Given the description of an element on the screen output the (x, y) to click on. 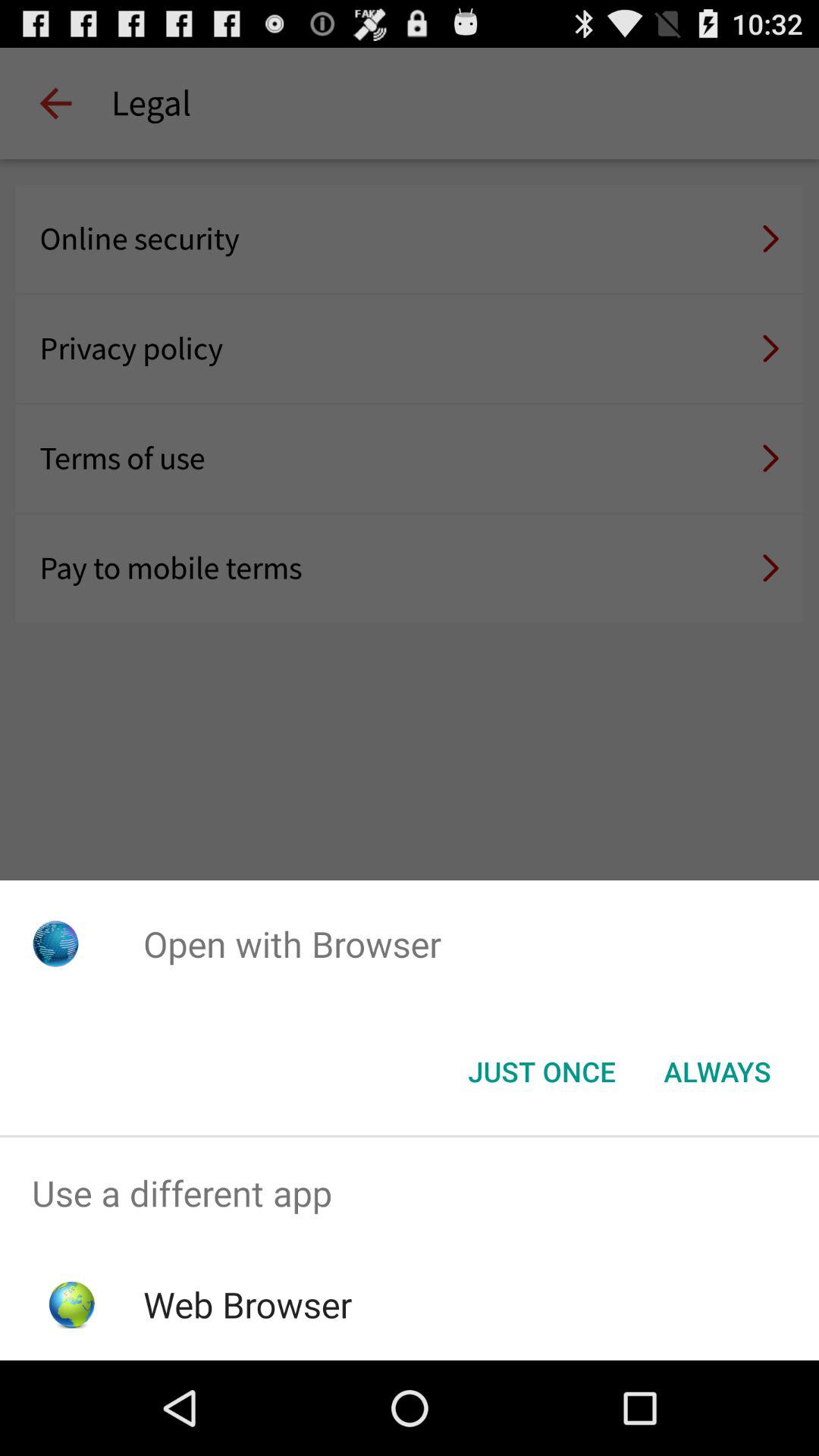
choose item next to always icon (541, 1071)
